Given the description of an element on the screen output the (x, y) to click on. 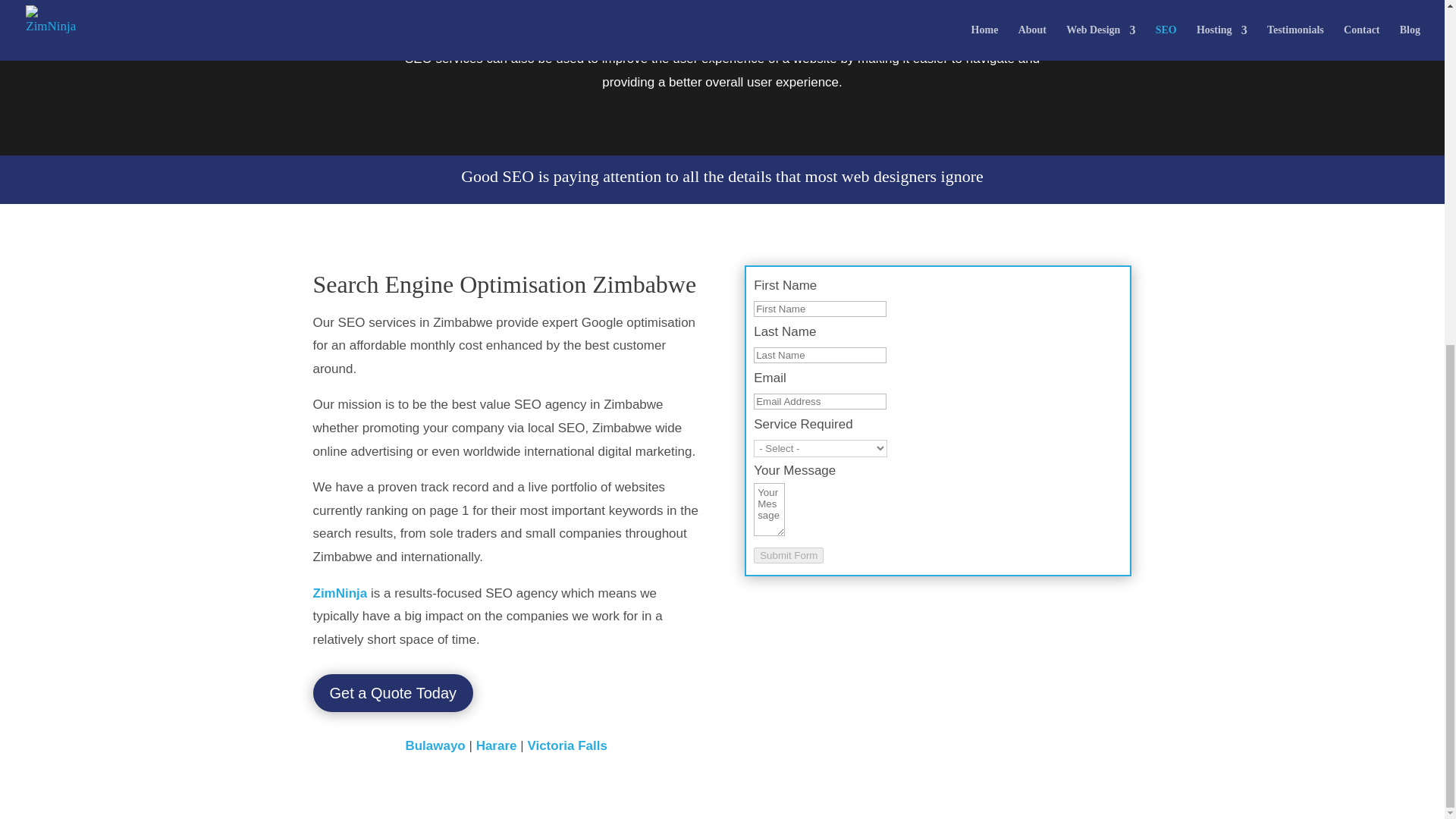
Harare (496, 745)
Submit Form (789, 555)
Victoria Falls (567, 745)
Bulawayo (434, 745)
Get a Quote Today (393, 692)
ZimNinja (339, 593)
